Given the description of an element on the screen output the (x, y) to click on. 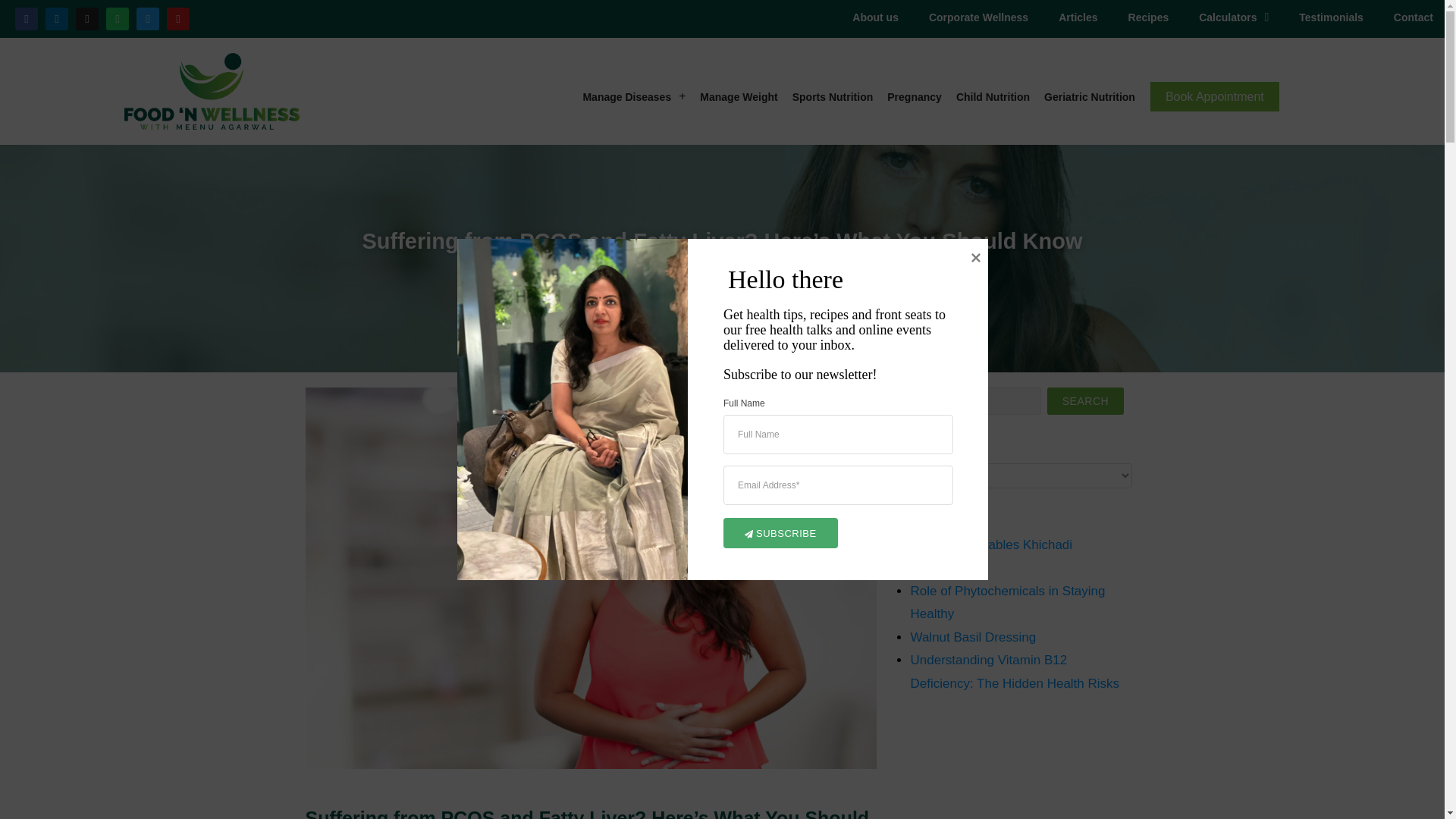
Search (1085, 400)
Search (1085, 400)
